Given the description of an element on the screen output the (x, y) to click on. 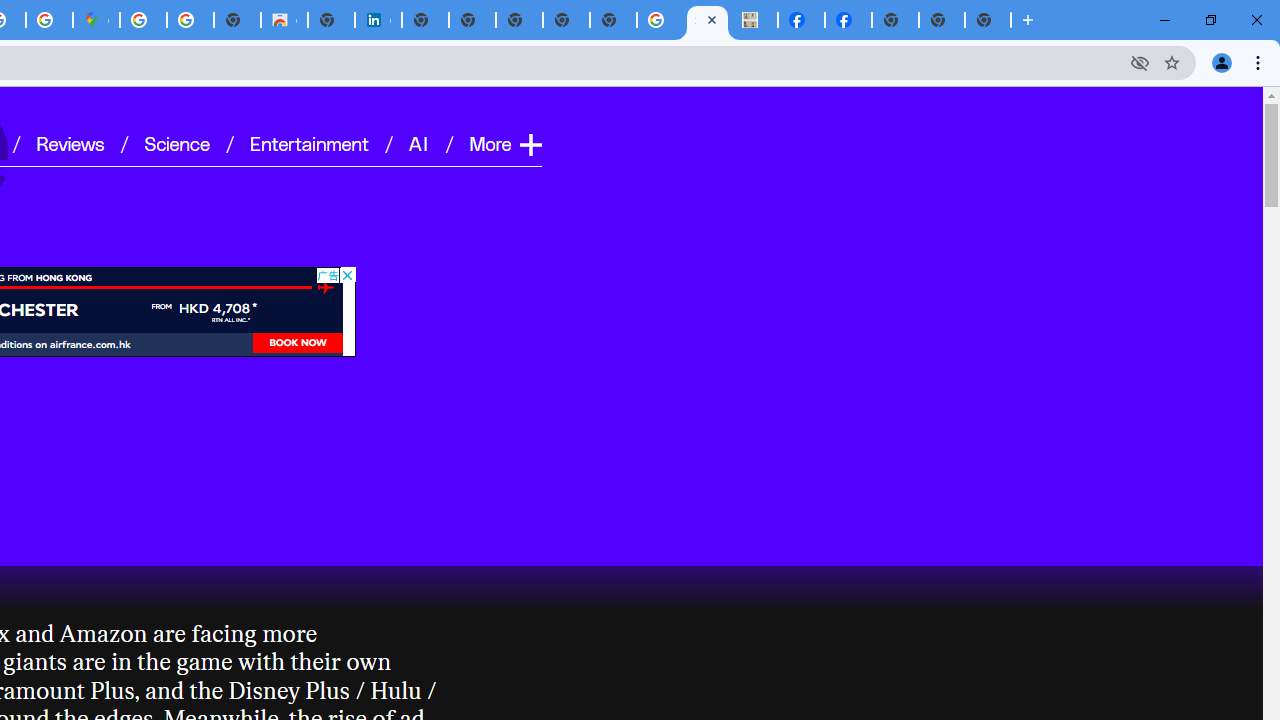
Science (176, 142)
Miley Cyrus | Facebook (801, 20)
AutomationID: cbb (346, 274)
New Tab (895, 20)
Streaming - The Verge (706, 20)
AutomationID: avion (325, 286)
Entertainment (309, 142)
Google Maps (96, 20)
Reviews (69, 142)
Chrome Web Store (284, 20)
More Expand (504, 142)
